Given the description of an element on the screen output the (x, y) to click on. 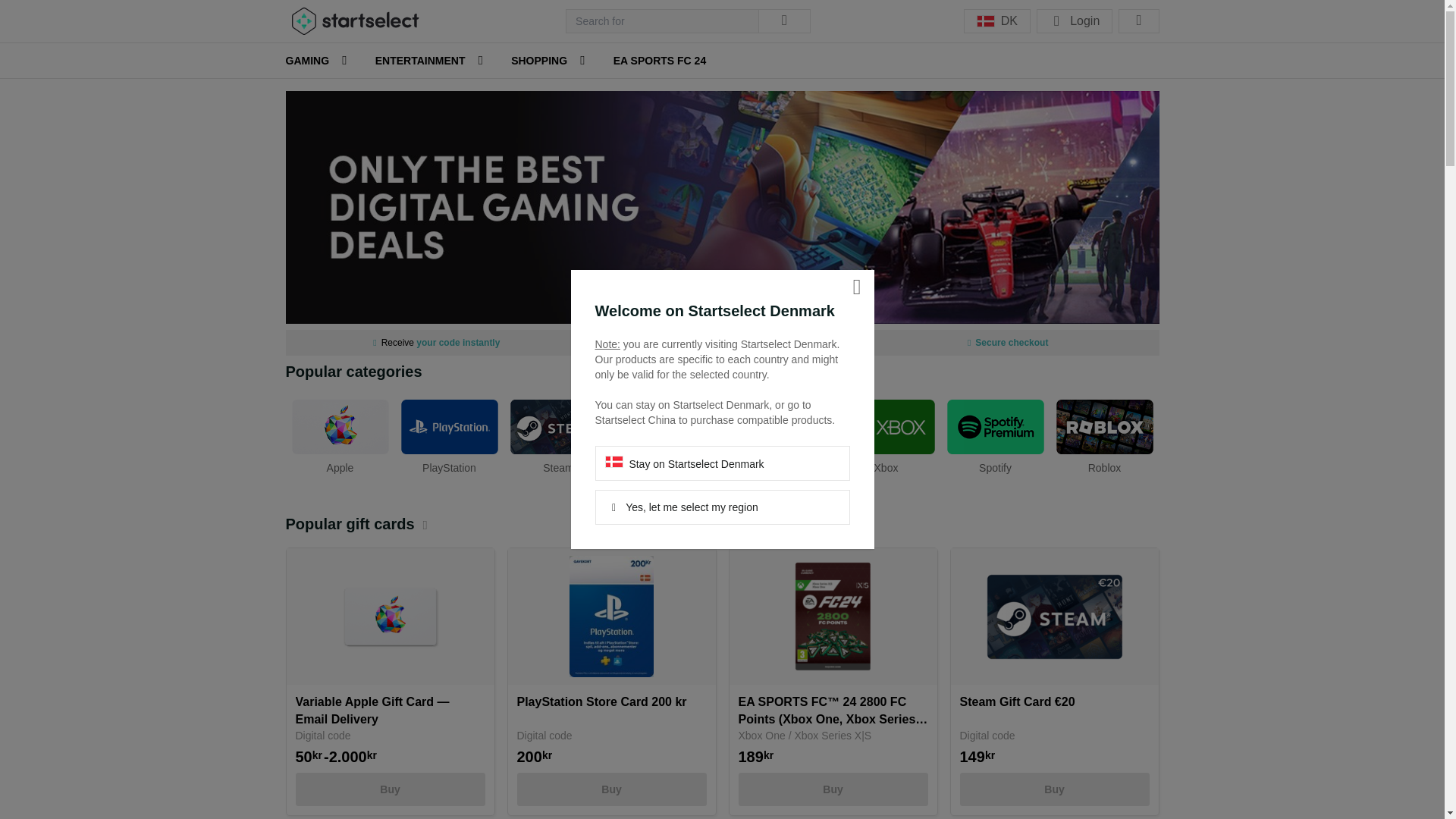
roblox (1104, 434)
Riot games (776, 434)
Shopping (540, 60)
EA SPORTS FC 24 (659, 60)
Steam (558, 434)
playstation (449, 434)
Entertainment (421, 60)
nintendo (667, 434)
Go to cart (1138, 21)
xbox (885, 434)
